Given the description of an element on the screen output the (x, y) to click on. 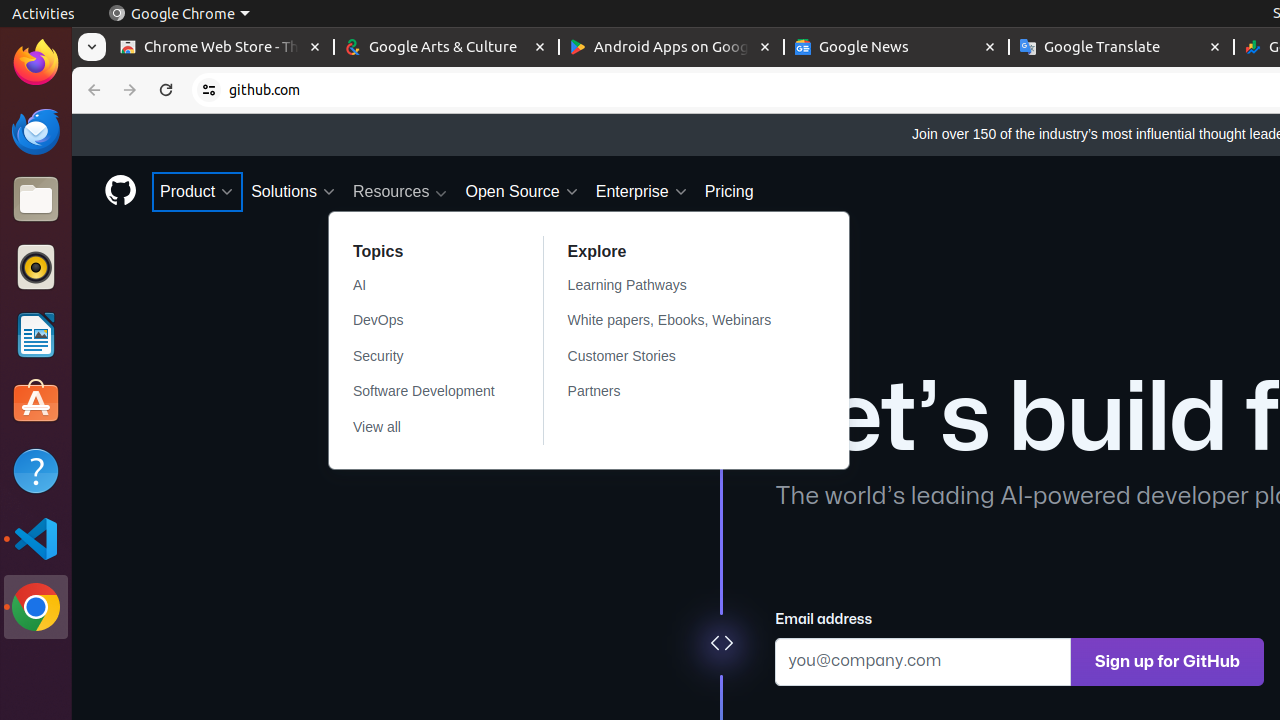
Back Element type: push-button (91, 90)
DevOps Element type: link (423, 321)
Help Element type: push-button (36, 470)
Forward Element type: push-button (130, 90)
Software Development Element type: link (423, 392)
